Given the description of an element on the screen output the (x, y) to click on. 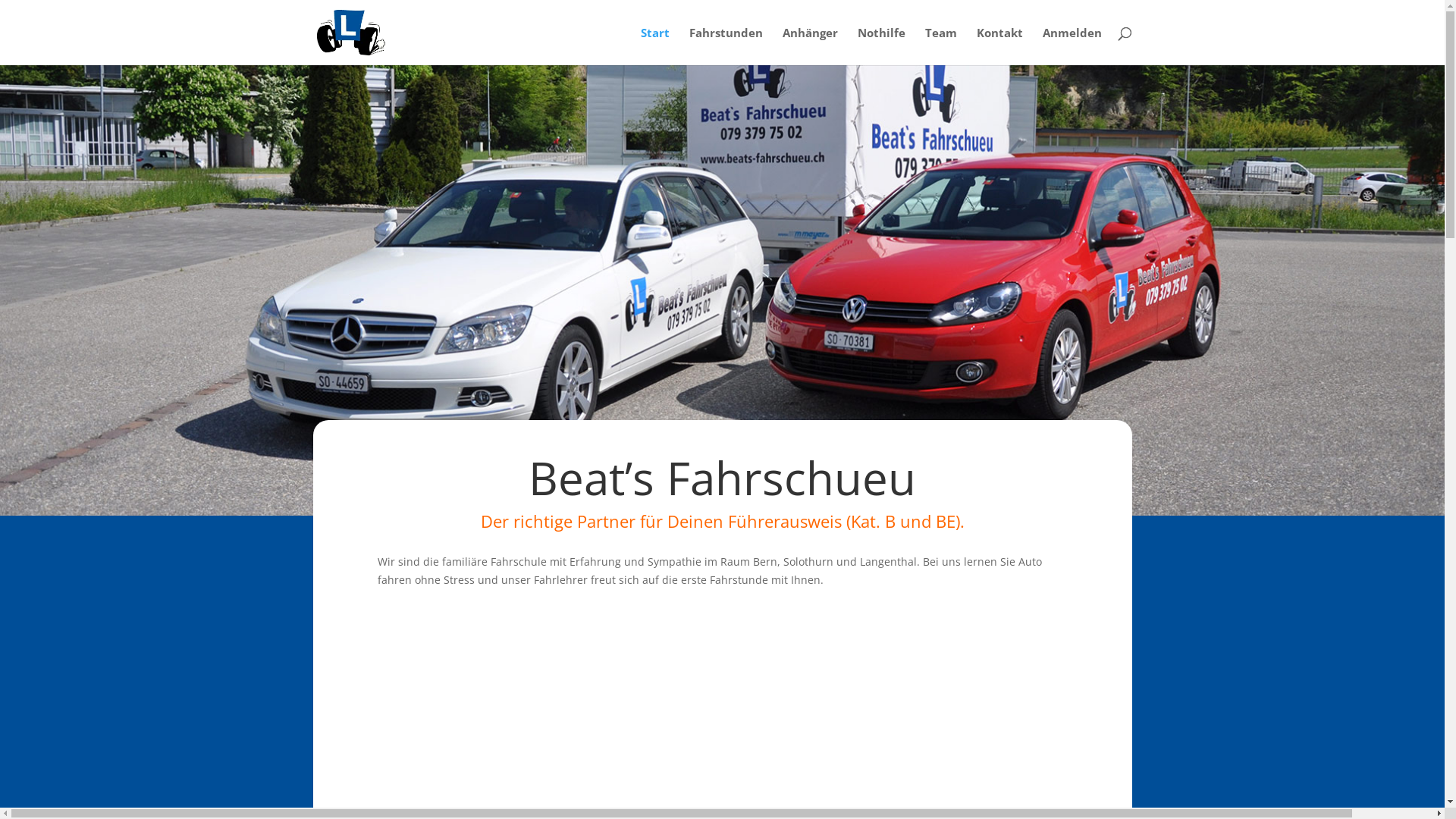
Nothilfe Element type: text (880, 46)
Team Element type: text (941, 46)
Kontakt Element type: text (999, 46)
Fahrstunden Element type: text (725, 46)
Start Element type: text (654, 46)
Anmelden Element type: text (1071, 46)
